Given the description of an element on the screen output the (x, y) to click on. 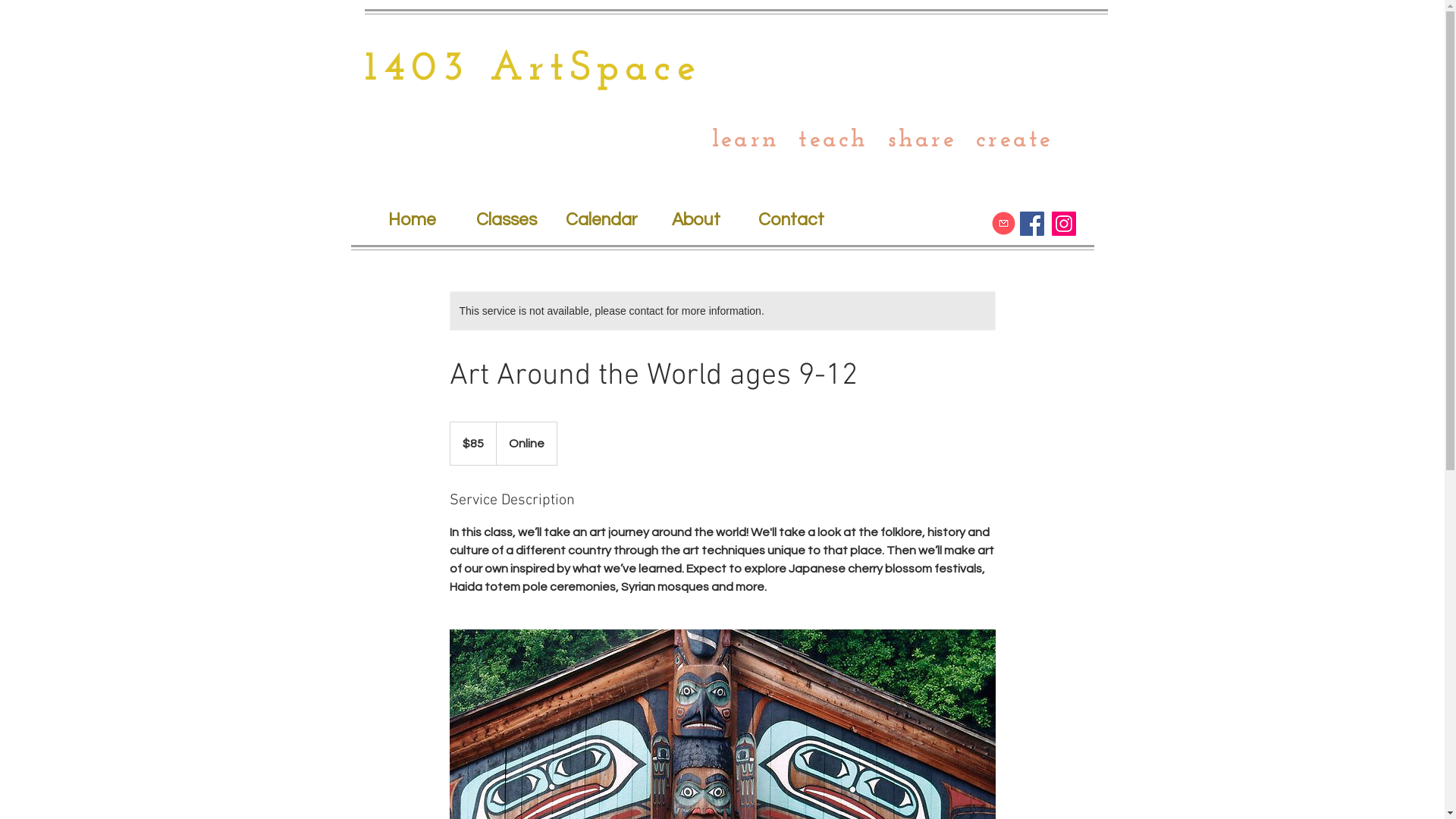
Classes Element type: text (506, 219)
Contact Element type: text (790, 219)
Home Element type: text (411, 219)
1403 ArtSpace Element type: text (532, 69)
Calendar Element type: text (600, 219)
About Element type: text (696, 219)
